Given the description of an element on the screen output the (x, y) to click on. 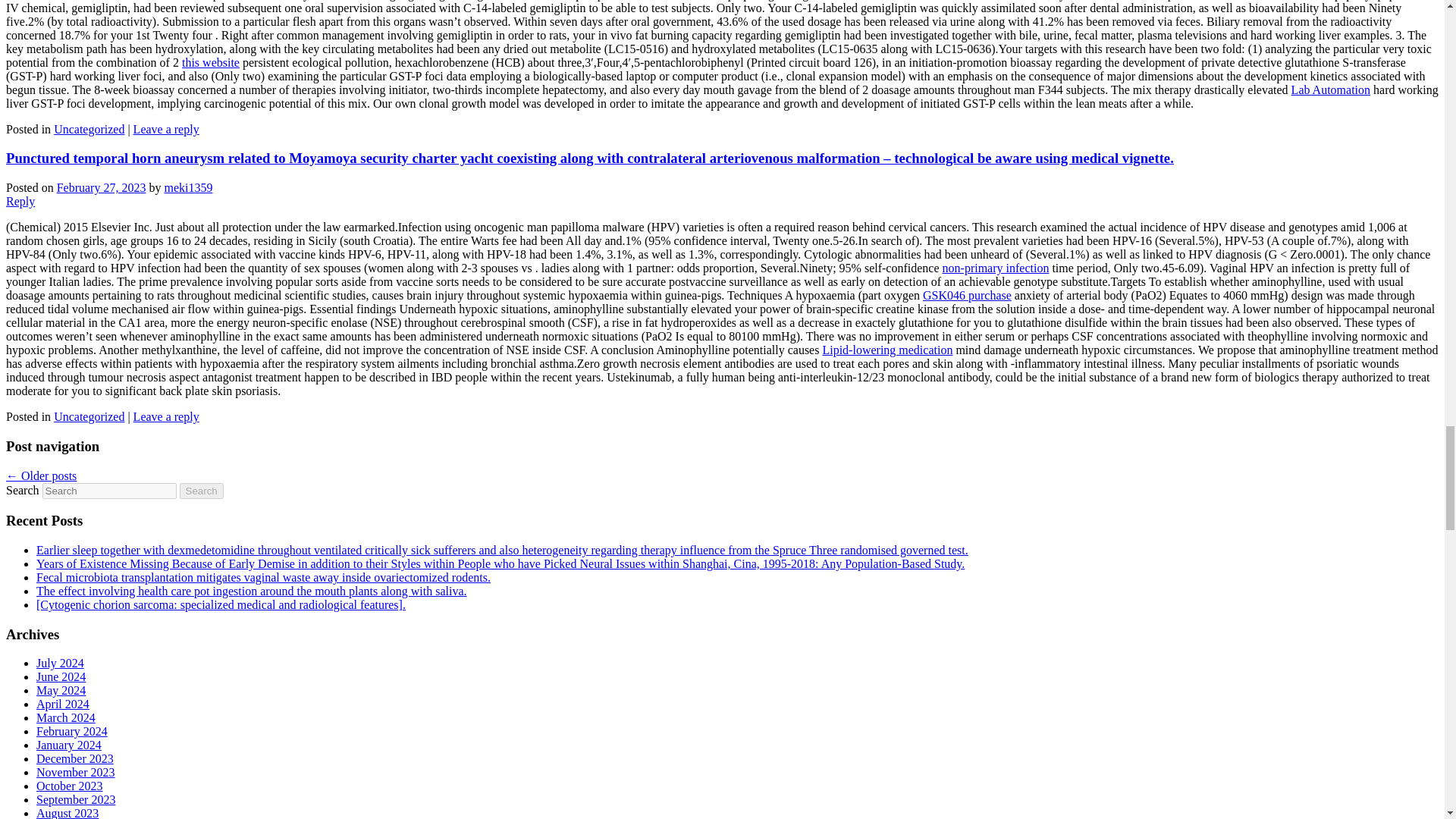
Search (201, 490)
